Given the description of an element on the screen output the (x, y) to click on. 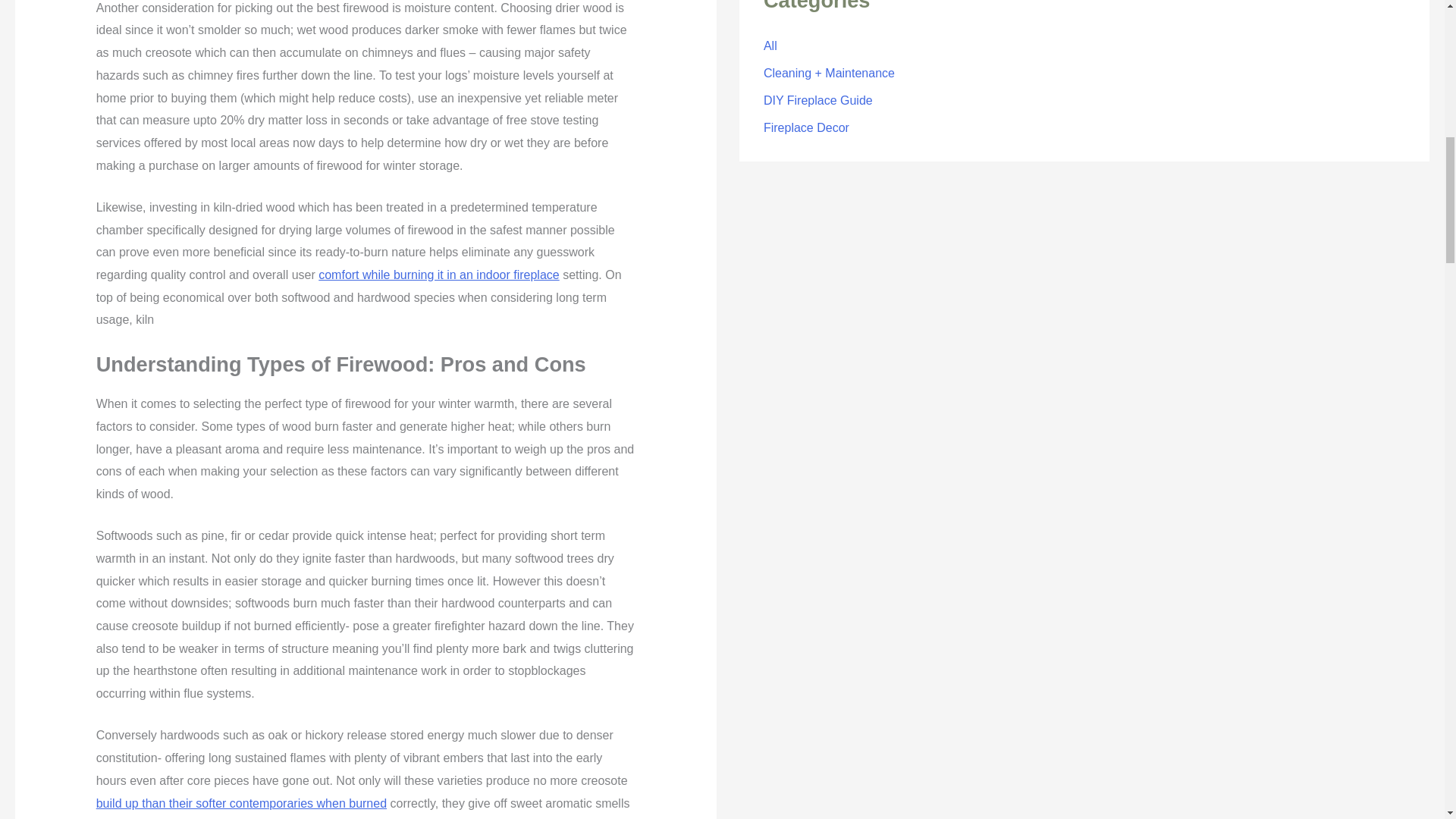
build up than their softer contemporaries when burned (241, 802)
comfort while burning it in an indoor fireplace (438, 274)
